Given the description of an element on the screen output the (x, y) to click on. 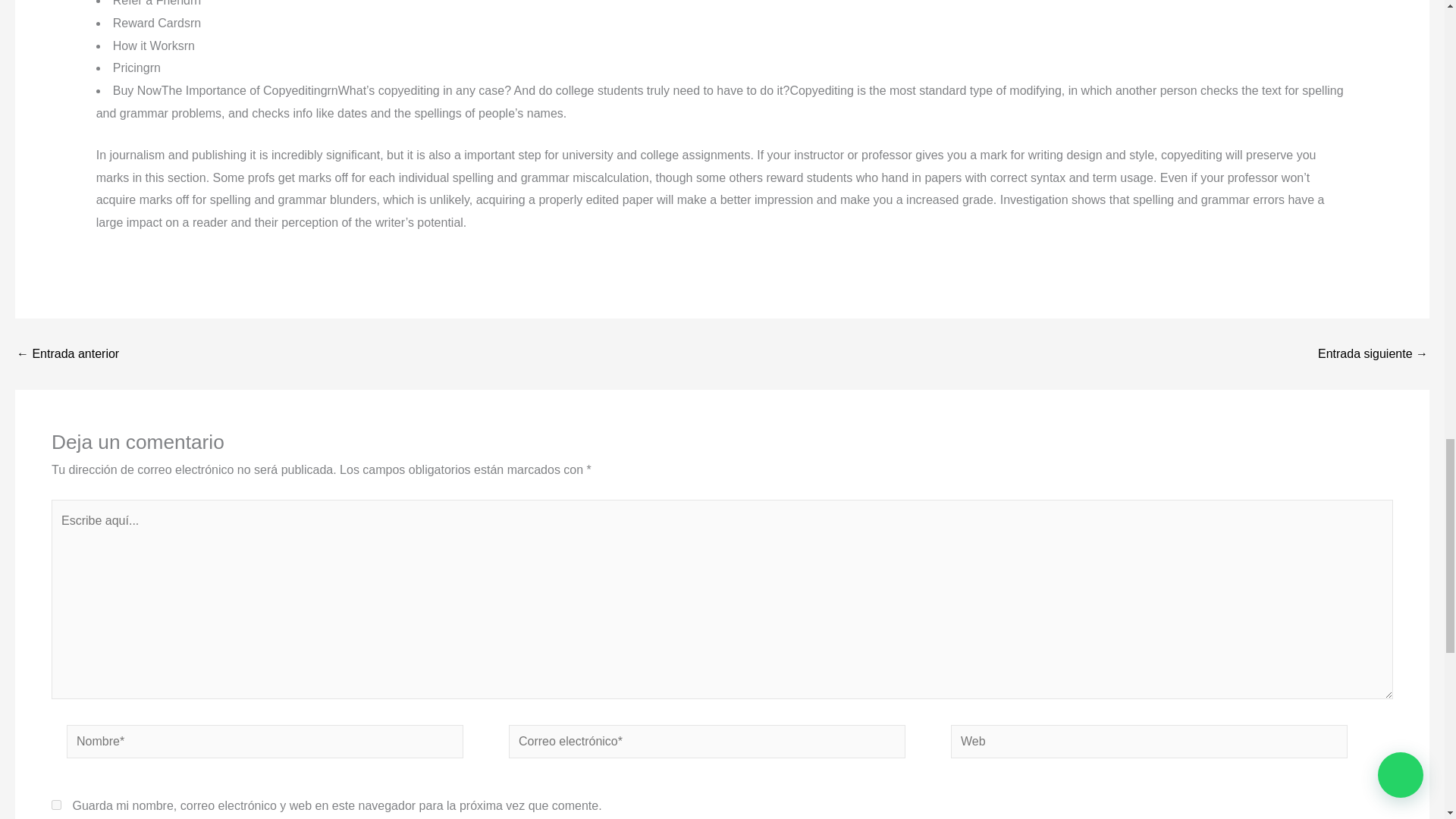
Does Ssi Pay For College (1372, 354)
Ge Capital Online Savings Reviews Upd. (67, 354)
yes (55, 804)
